Given the description of an element on the screen output the (x, y) to click on. 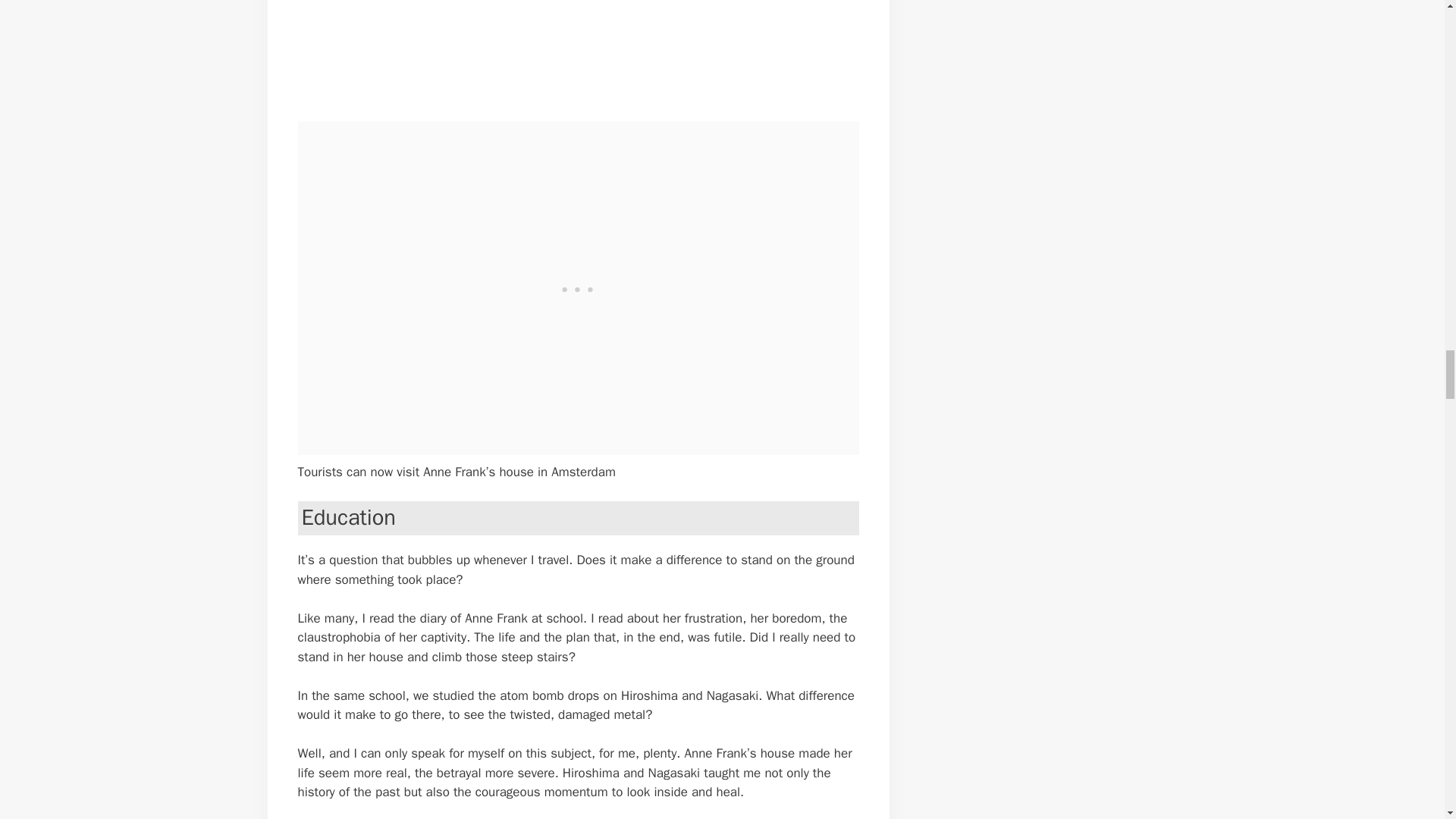
Dark tourism - Anne Frank house in Amsterdam (547, 48)
